Given the description of an element on the screen output the (x, y) to click on. 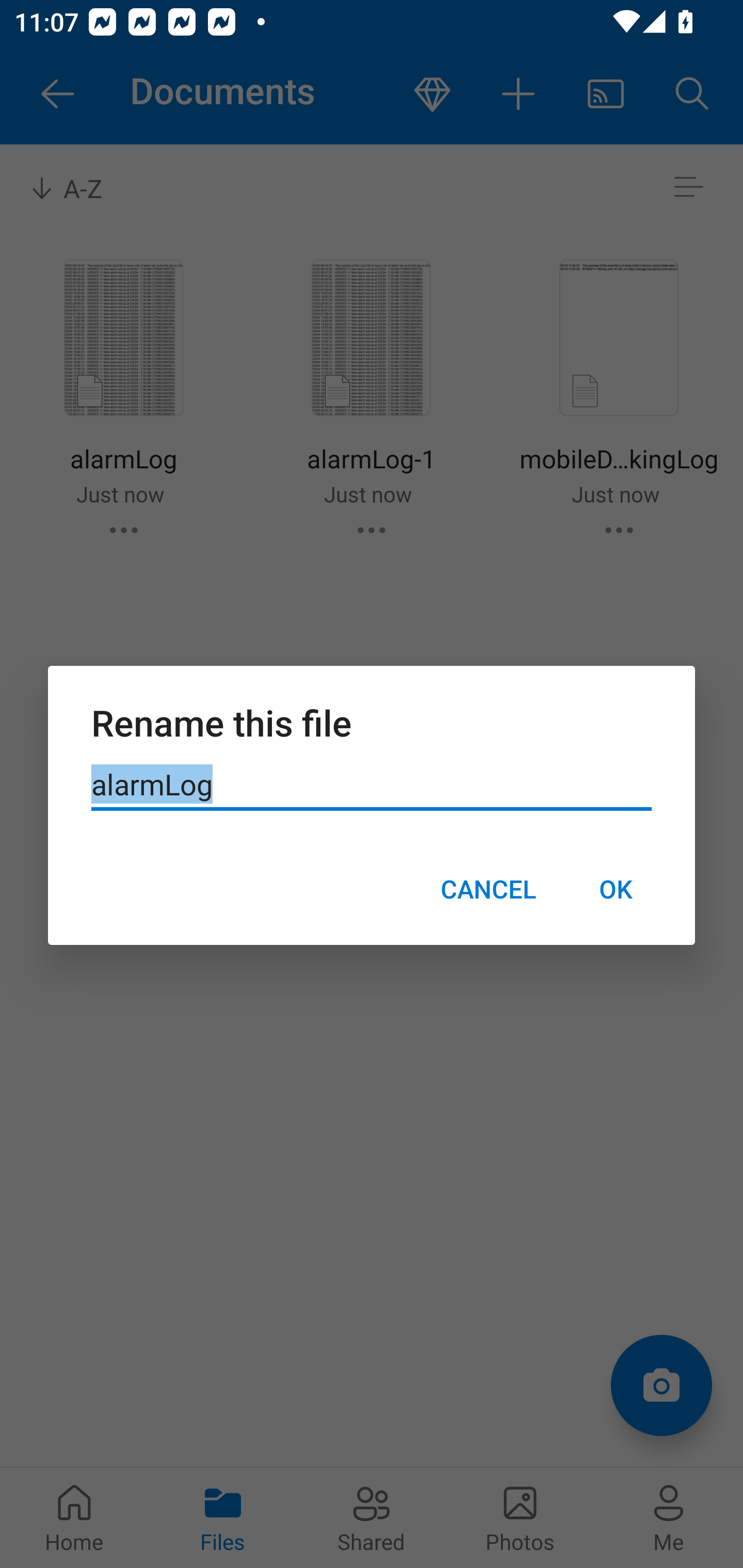
alarmLog (371, 784)
CANCEL (488, 888)
OK (615, 888)
